Given the description of an element on the screen output the (x, y) to click on. 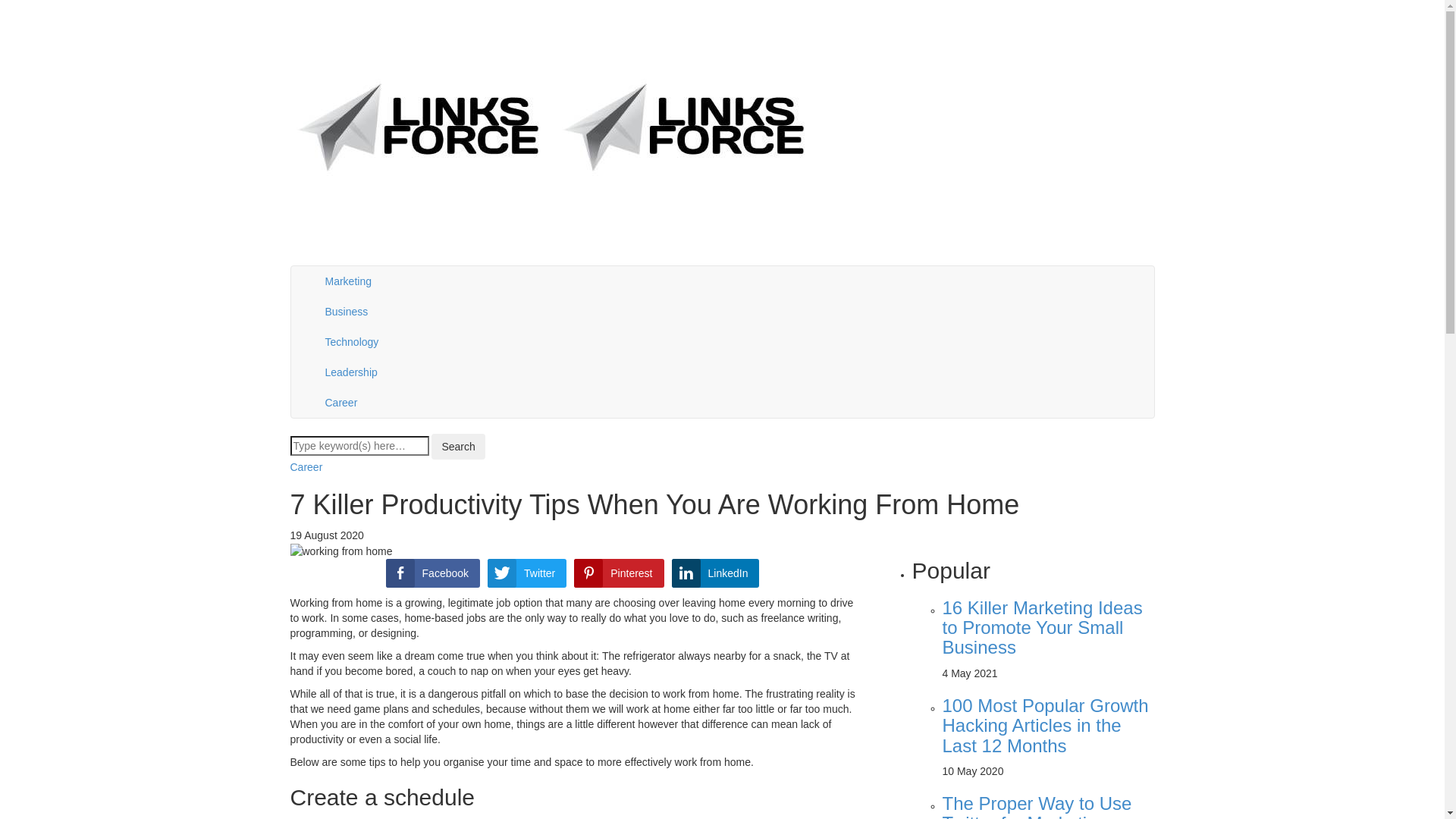
Leadership Element type: text (734, 372)
Technology Element type: text (734, 341)
Facebook Element type: text (432, 572)
16 Killer Marketing Ideas to Promote Your Small Business Element type: text (1041, 627)
Career Element type: text (734, 402)
Marketing Element type: text (734, 281)
Pinterest Element type: text (618, 572)
Business Element type: text (734, 311)
Search Element type: text (457, 446)
Career Element type: text (305, 467)
Twitter Element type: text (526, 572)
LinkedIn Element type: text (715, 572)
